Given the description of an element on the screen output the (x, y) to click on. 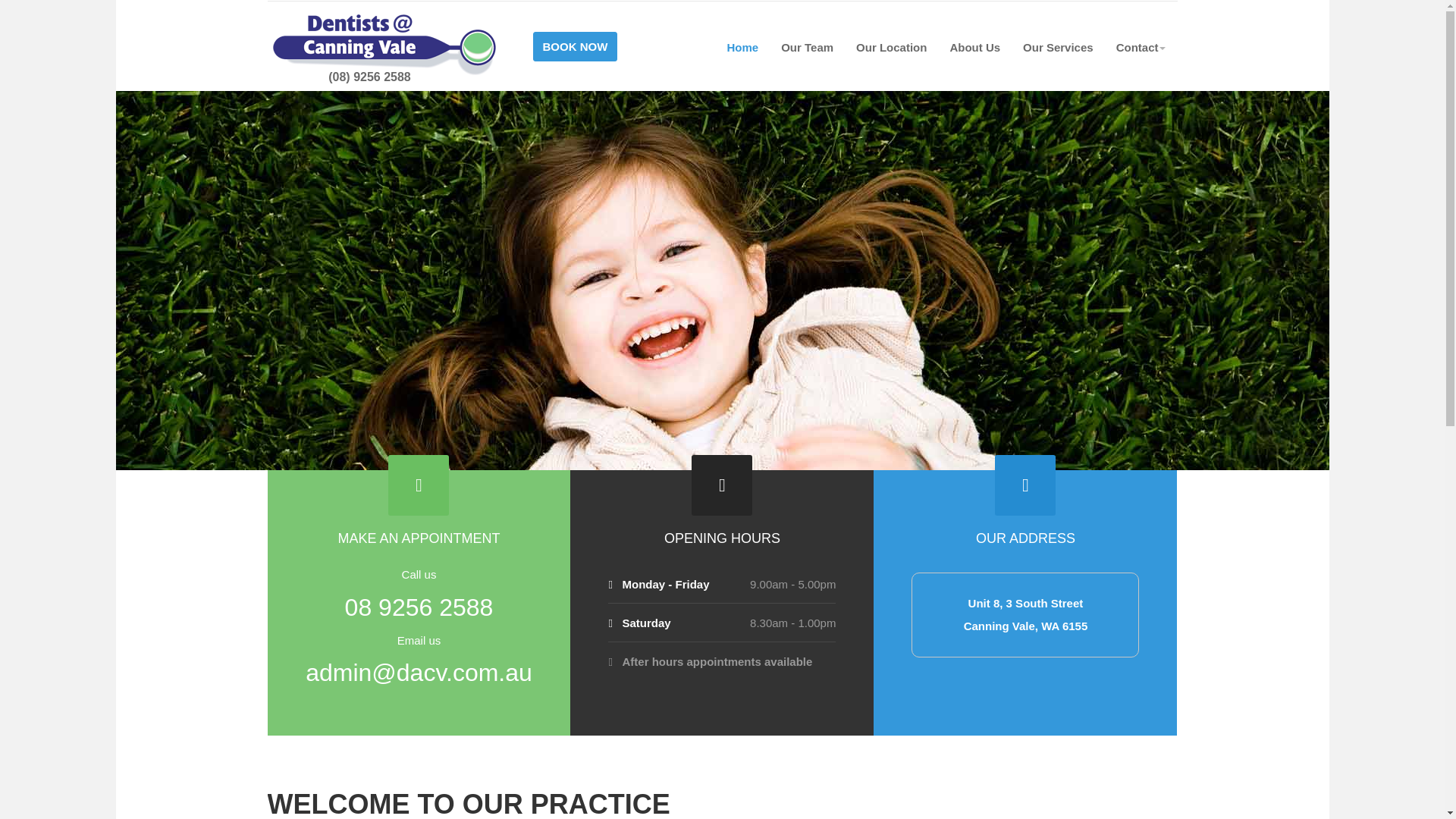
Our Team (807, 47)
Our Location (890, 47)
Our Services (1058, 47)
BOOK NOW (574, 42)
Contact (1141, 47)
About Us (974, 47)
